Given the description of an element on the screen output the (x, y) to click on. 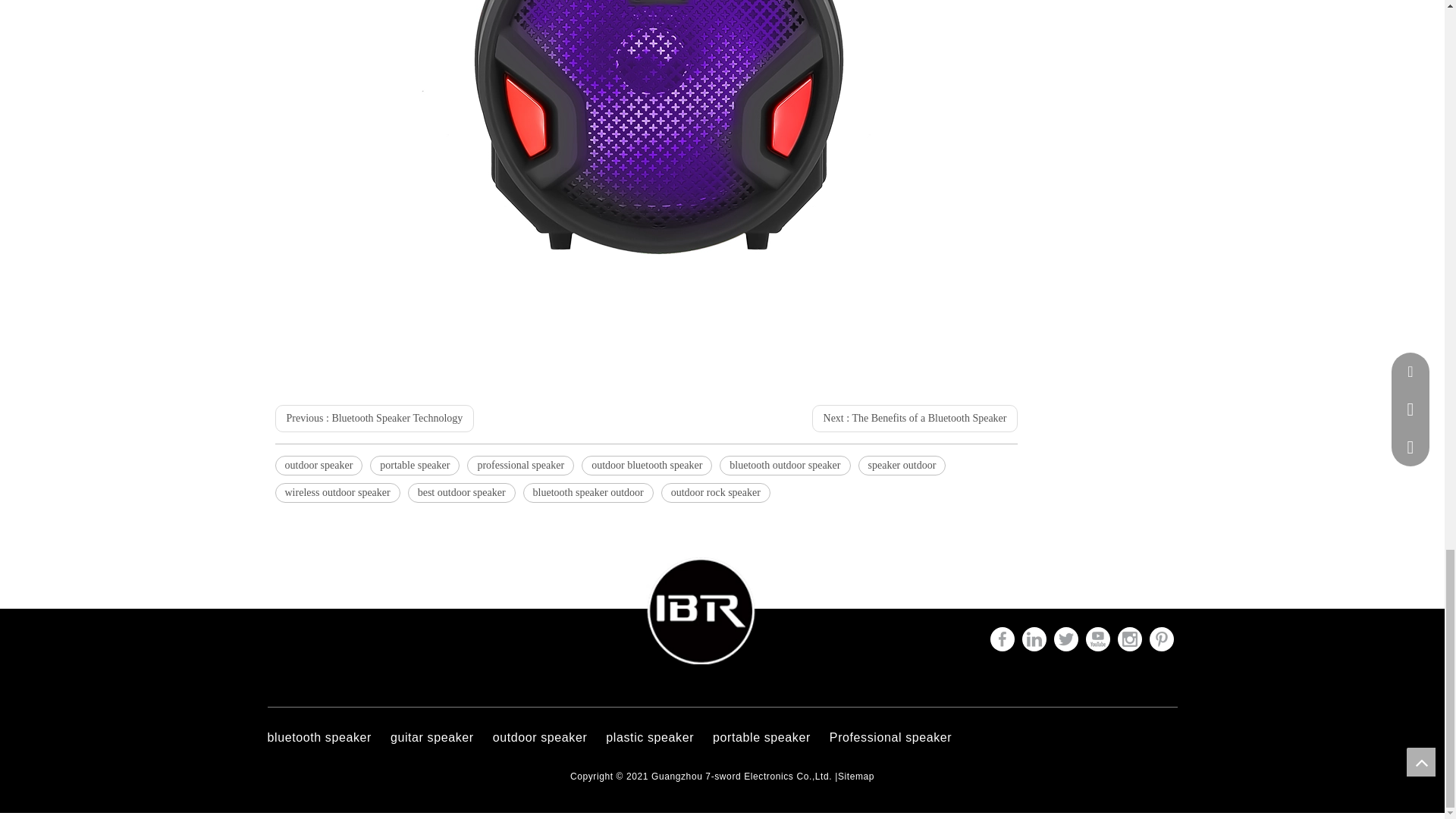
outdoor rock speaker (715, 492)
professional speaker (520, 465)
outdoor bluetooth speaker (645, 465)
best outdoor speaker (461, 492)
bluetooth outdoor speaker (784, 465)
portable speaker (414, 465)
speaker outdoor (902, 465)
wireless outdoor speaker (336, 492)
portable speaker (414, 465)
outdoor speaker (318, 465)
Next : The Benefits of a Bluetooth Speaker (914, 418)
best outdoor speaker (461, 492)
speaker outdoor (902, 465)
professional speaker (520, 465)
